Given the description of an element on the screen output the (x, y) to click on. 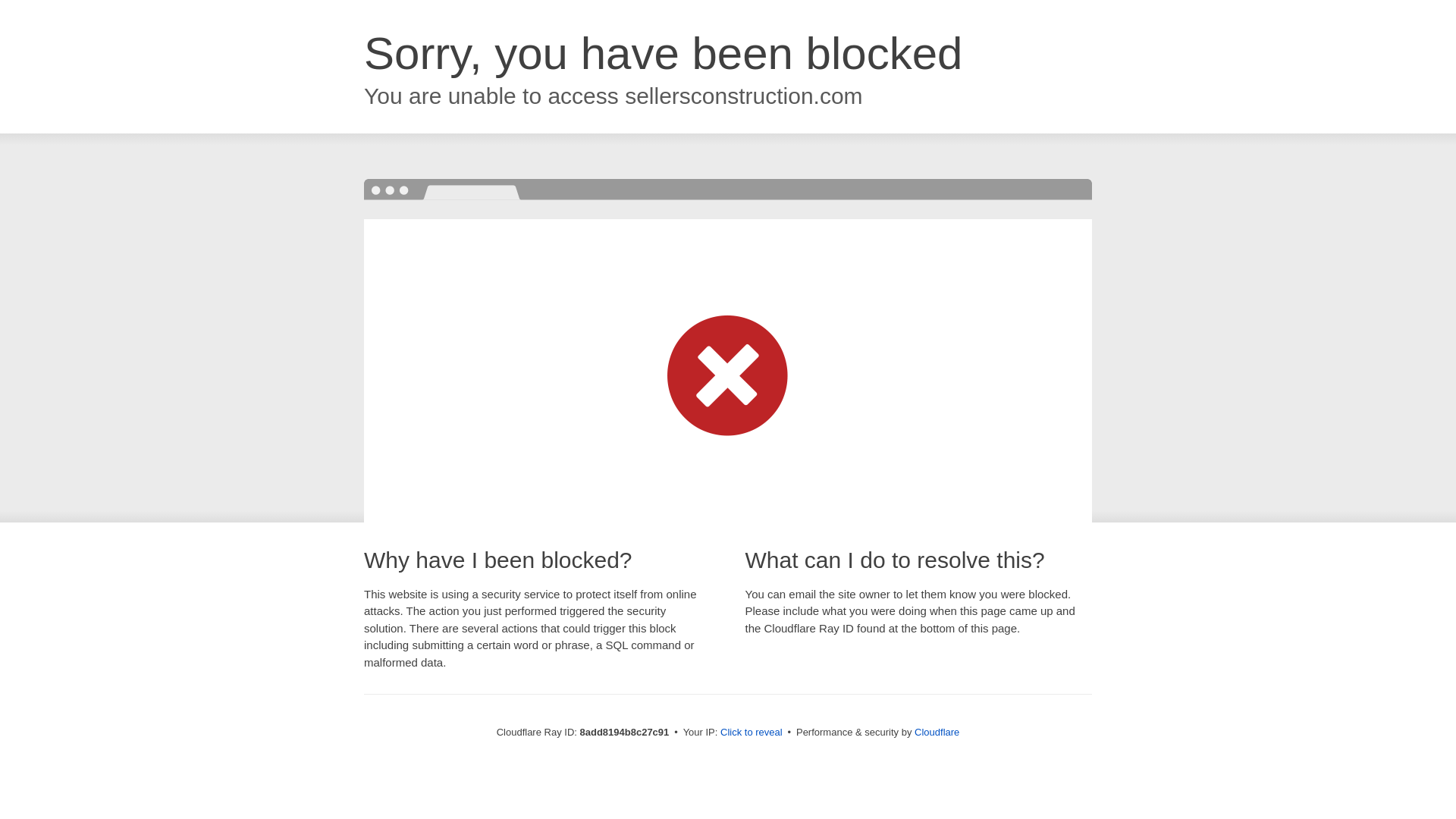
Click to reveal (751, 732)
Cloudflare (936, 731)
